Given the description of an element on the screen output the (x, y) to click on. 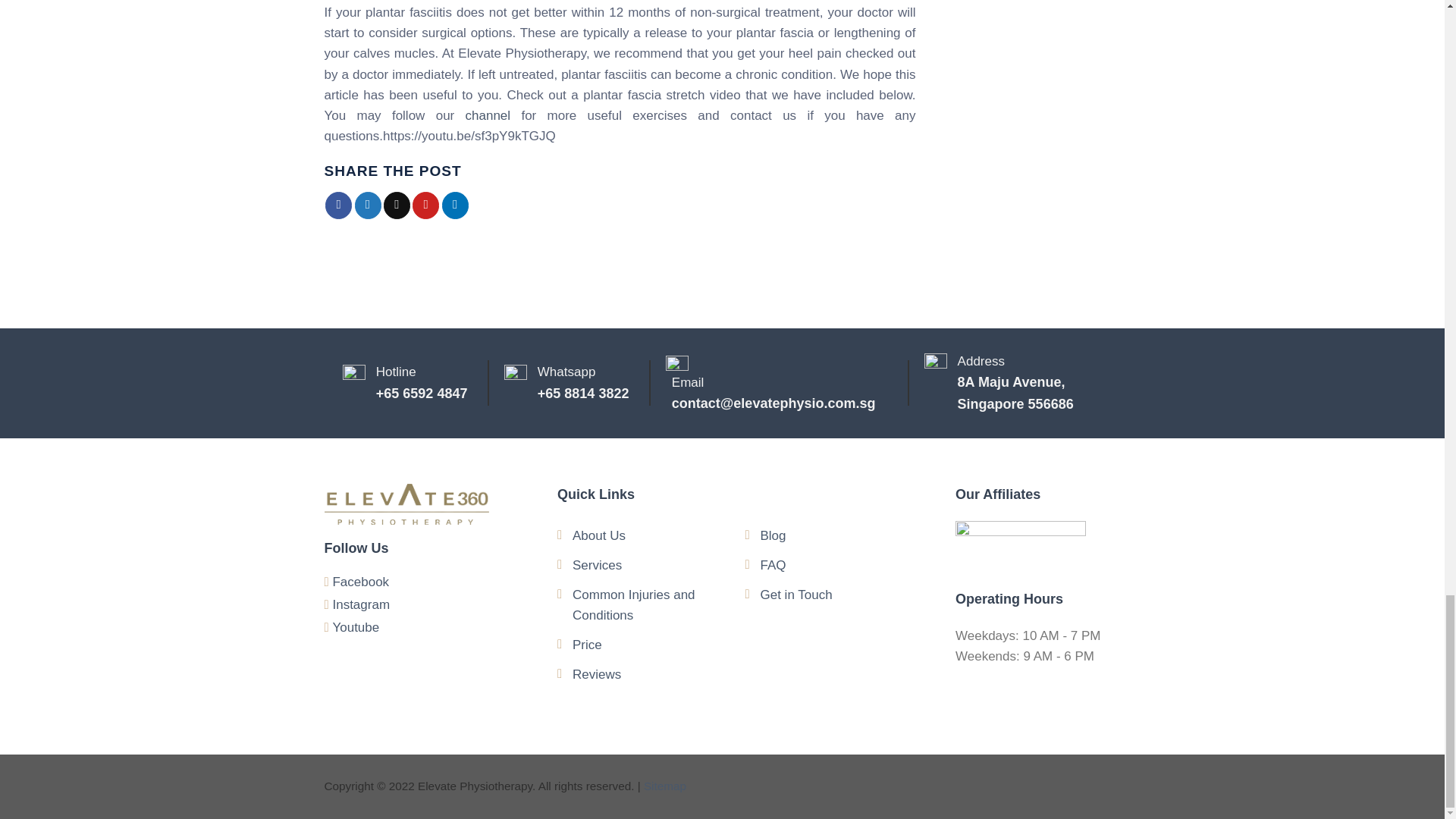
channel (488, 115)
Share on Facebook (338, 205)
Share on Twitter (368, 205)
Email to a Friend (397, 205)
Pin on Pinterest (425, 205)
